Given the description of an element on the screen output the (x, y) to click on. 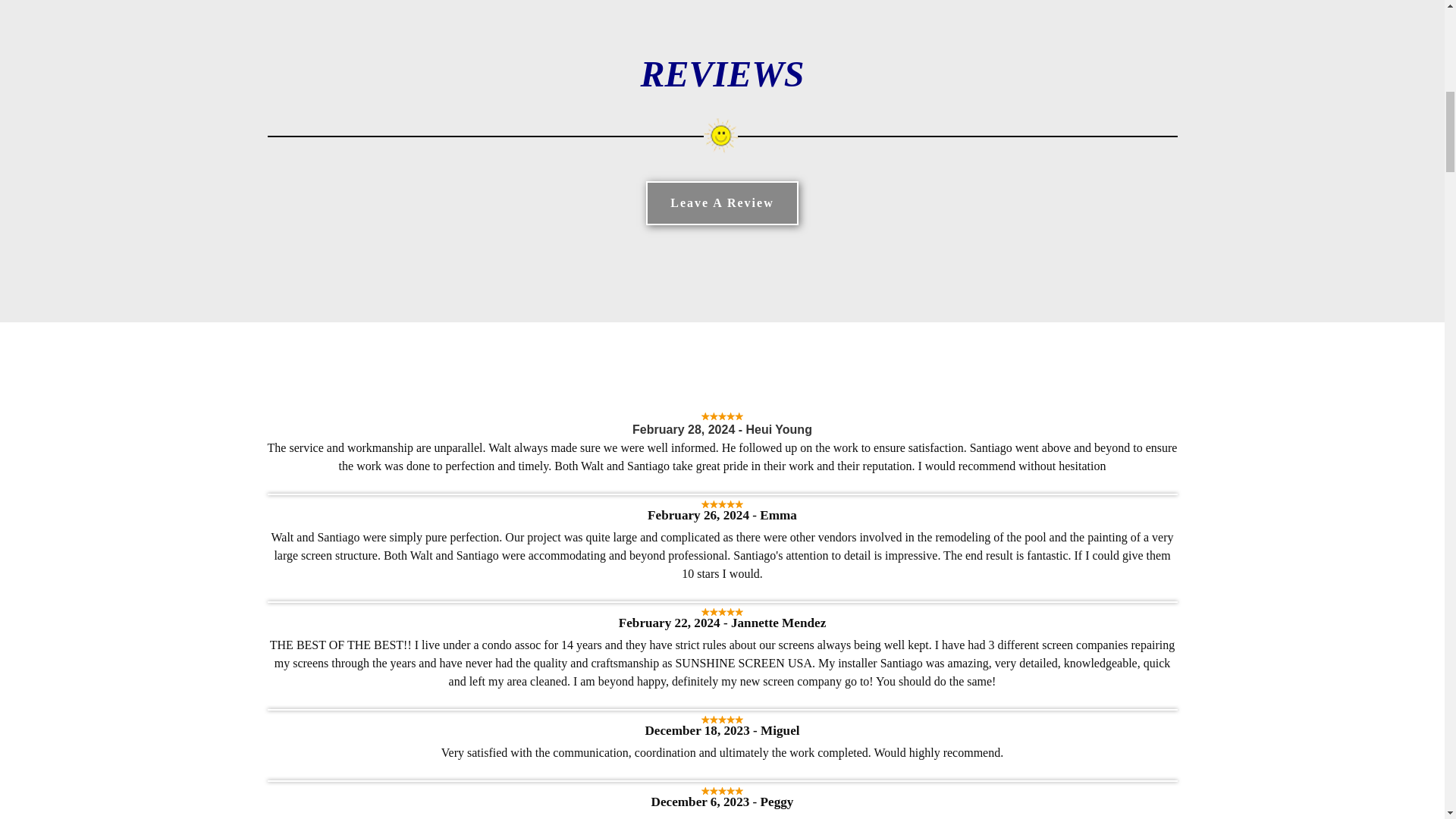
5 Stars (721, 719)
Break Line (721, 135)
5 Stars (721, 504)
5 Stars (721, 416)
5 Stars (721, 791)
Leave A Review (721, 202)
5 Stars (721, 612)
